Given the description of an element on the screen output the (x, y) to click on. 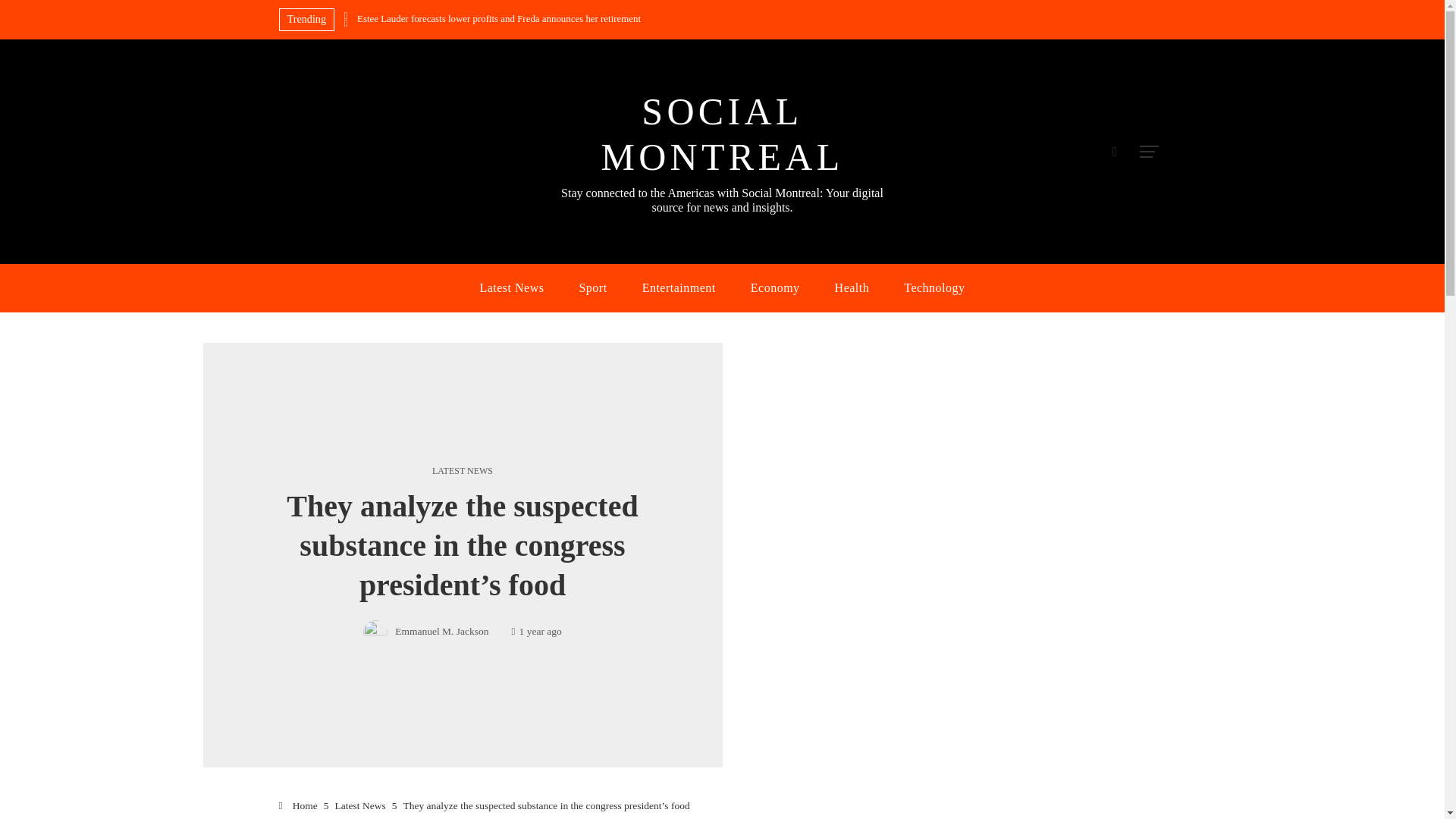
Sport (592, 288)
Latest News (359, 805)
Entertainment (678, 288)
SOCIAL MONTREAL (721, 134)
Health (852, 288)
Economy (775, 288)
Home (298, 805)
LATEST NEWS (462, 470)
